Given the description of an element on the screen output the (x, y) to click on. 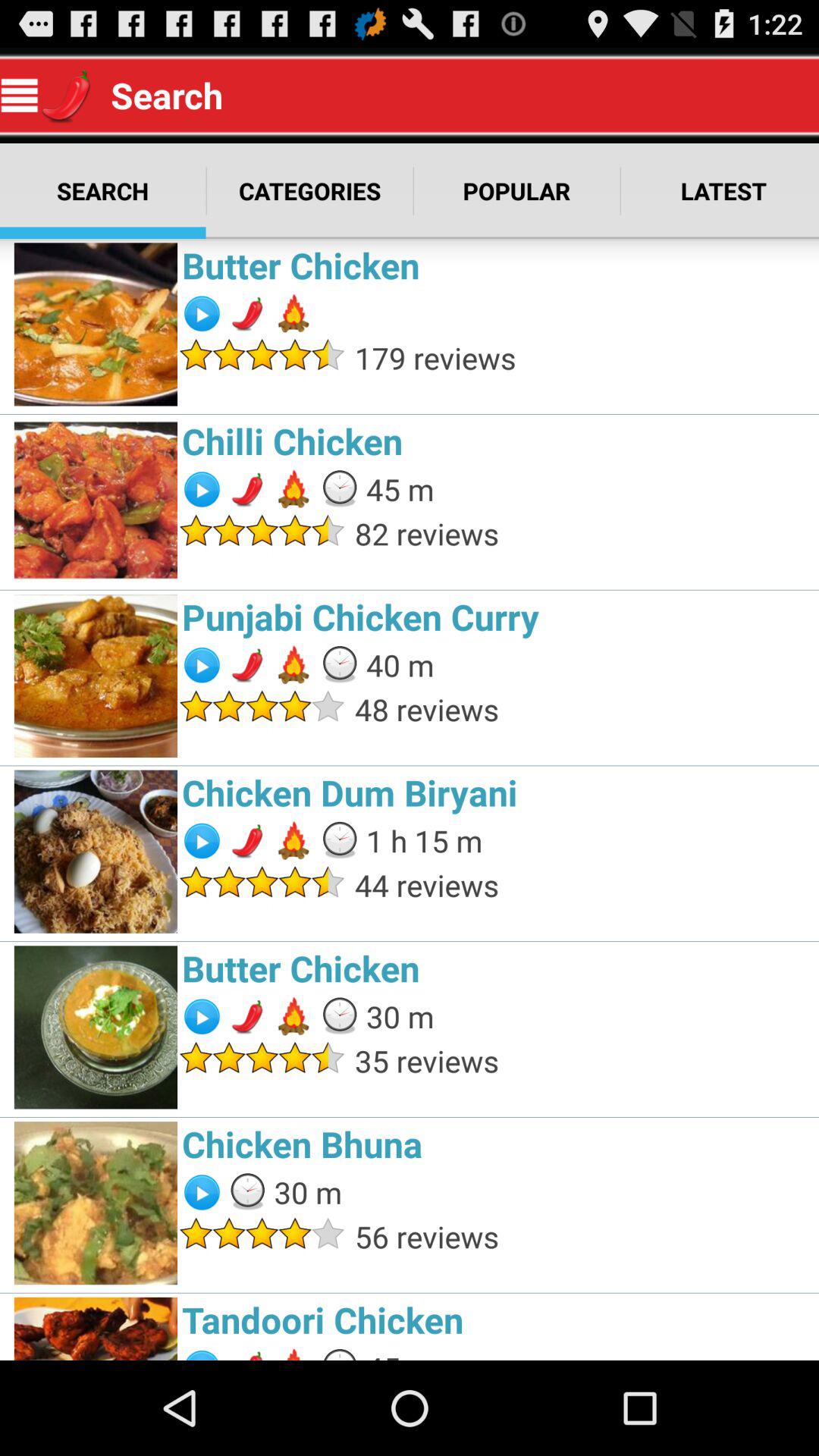
flip until the 179 reviews (582, 357)
